Given the description of an element on the screen output the (x, y) to click on. 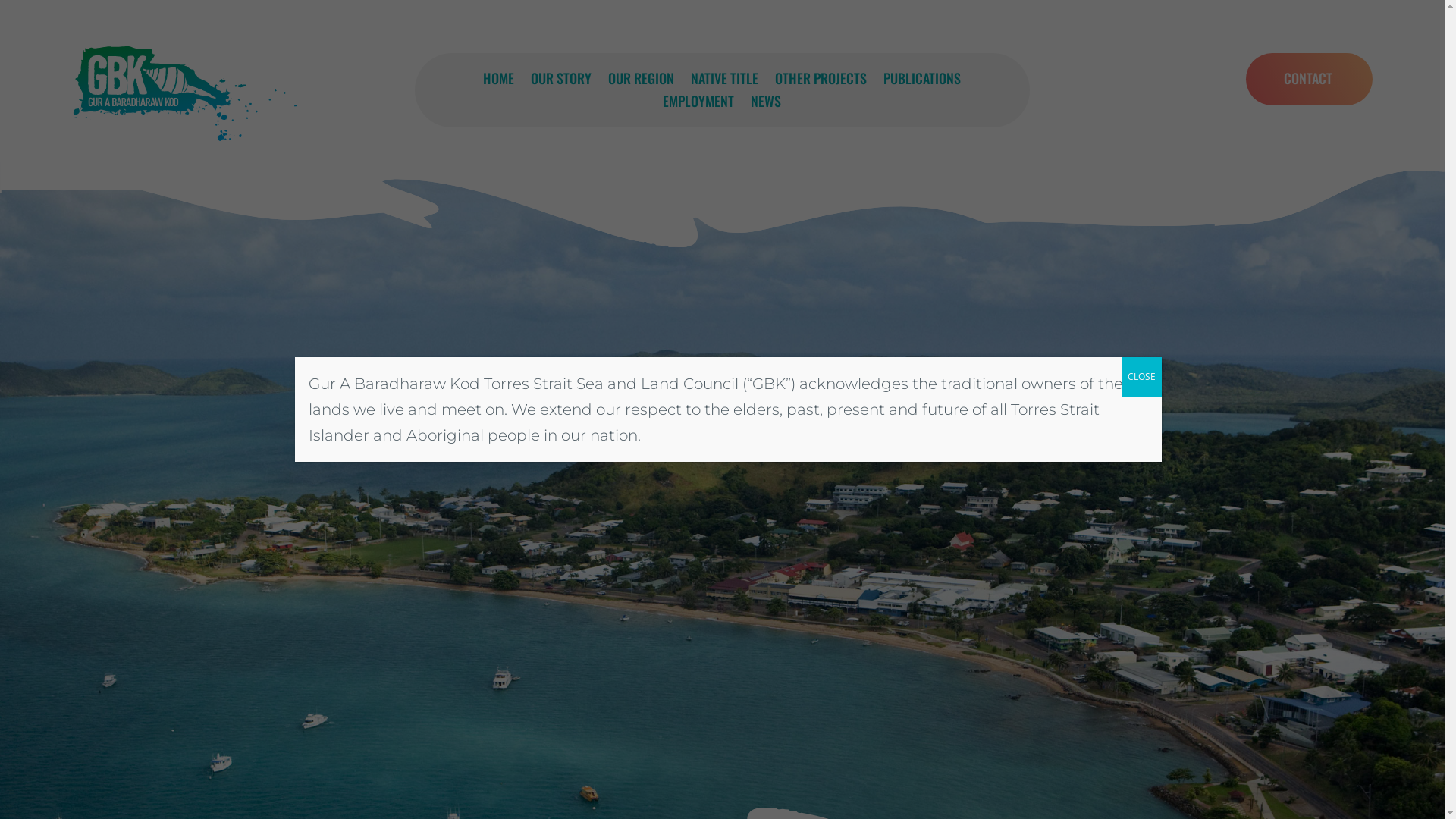
HOME Element type: text (498, 80)
NEWS Element type: text (765, 103)
OTHER PROJECTS Element type: text (820, 80)
PUBLICATIONS Element type: text (921, 80)
OUR STORY Element type: text (560, 80)
CONTACT Element type: text (1308, 79)
white_mask_top Element type: hover (722, 204)
NATIVE TITLE Element type: text (724, 80)
CLOSE Element type: text (1140, 376)
EMPLOYMENT Element type: text (698, 103)
OUR REGION Element type: text (641, 80)
